Given the description of an element on the screen output the (x, y) to click on. 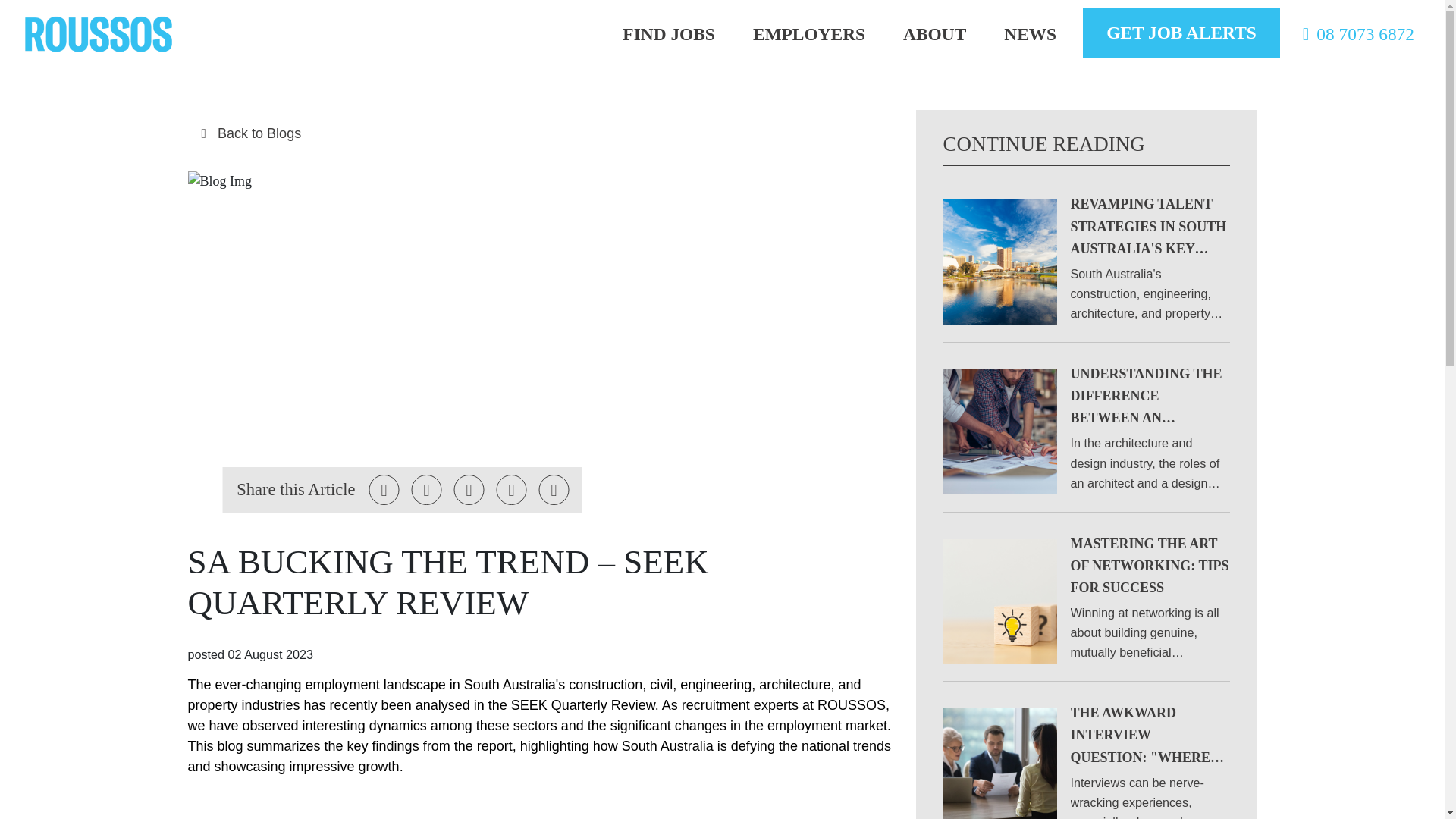
EMPLOYERS (808, 34)
Email (511, 490)
08 7073 6872 (1354, 34)
Tweet this (383, 490)
Back to Blogs (540, 133)
GET JOB ALERTS (1181, 32)
FIND JOBS (668, 34)
Send in Whatsapp (553, 490)
Share on Facebook (427, 490)
ABOUT (934, 34)
NEWS (1030, 34)
Share on LinkedIn (469, 490)
Go to the Homepage (98, 32)
